Given the description of an element on the screen output the (x, y) to click on. 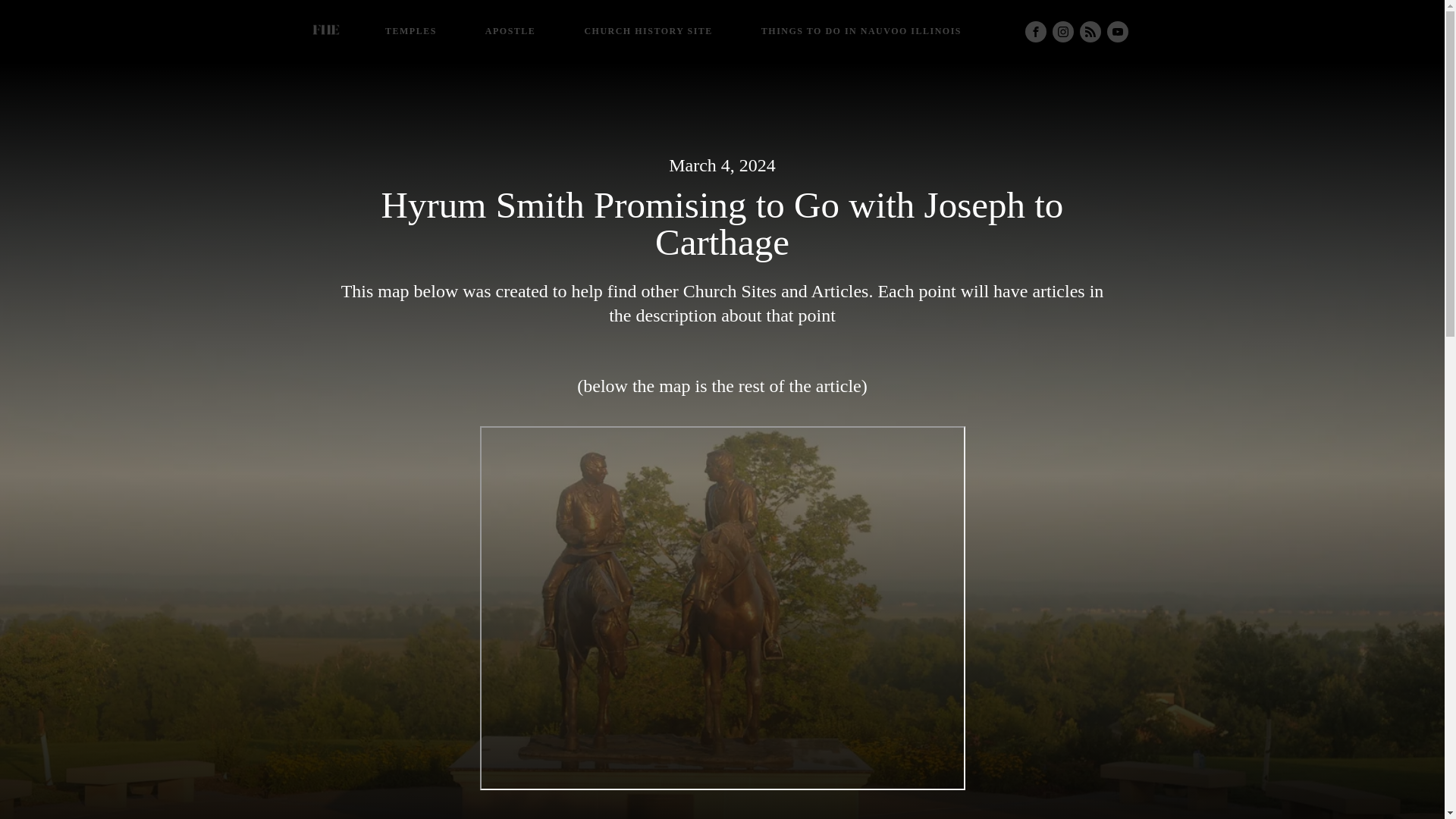
CHURCH HISTORY SITE (647, 31)
TEMPLES (411, 31)
THINGS TO DO IN NAUVOO ILLINOIS (860, 31)
APOSTLE (510, 31)
